Given the description of an element on the screen output the (x, y) to click on. 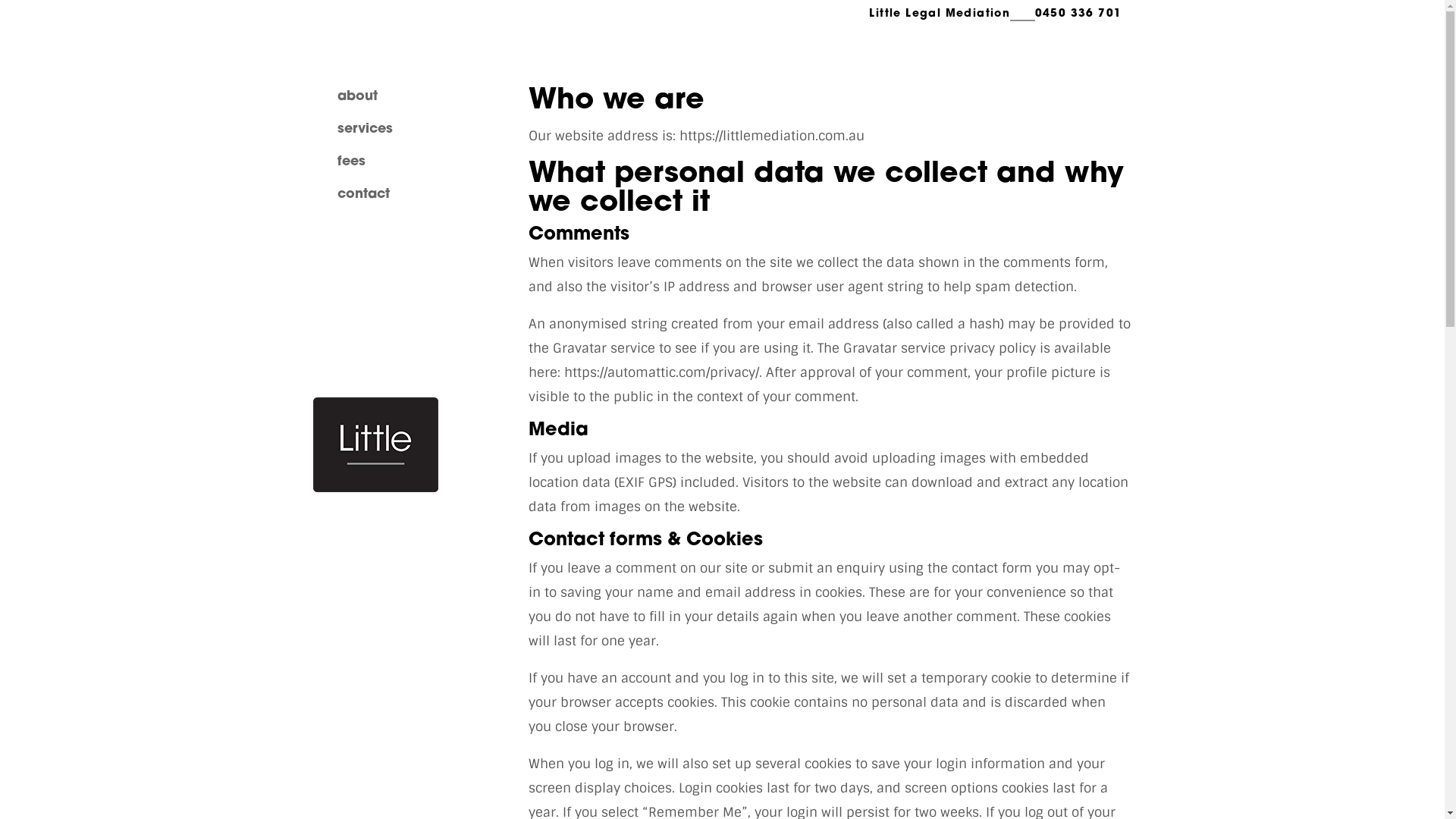
contact Element type: text (362, 194)
fees Element type: text (350, 161)
0450 336 701 Element type: text (1078, 13)
services Element type: text (364, 128)
about Element type: text (356, 96)
